Given the description of an element on the screen output the (x, y) to click on. 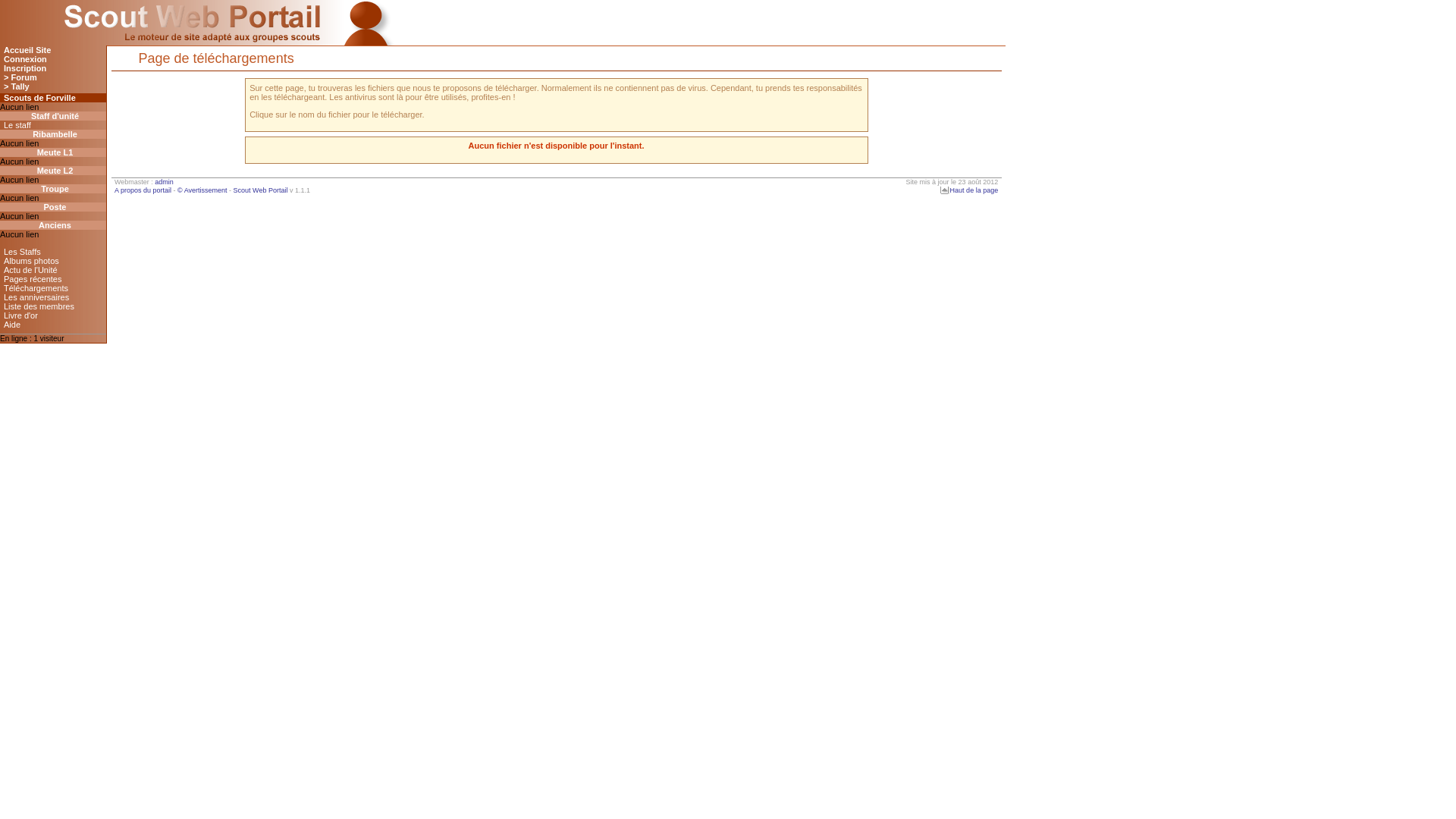
Albums photos Element type: text (53, 260)
Poste Element type: text (53, 206)
Anciens Element type: text (53, 224)
Inscription Element type: text (53, 67)
Tally Element type: text (53, 86)
Livre d'or Element type: text (53, 315)
Connexion Element type: text (53, 58)
Forum Element type: text (53, 76)
Accueil Site Element type: text (53, 49)
Haut de la page Element type: text (967, 190)
Aide Element type: text (53, 324)
Liste des membres Element type: text (53, 305)
Scout Web Portail Element type: text (260, 190)
Scouts de Forville Element type: text (53, 97)
Les Staffs Element type: text (53, 251)
Ribambelle Element type: text (53, 133)
Le staff Element type: text (53, 124)
A propos du portail Element type: text (142, 190)
admin Element type: text (163, 181)
Meute L2 Element type: text (53, 170)
Meute L1 Element type: text (53, 151)
Troupe Element type: text (53, 188)
Les anniversaires Element type: text (53, 296)
